Given the description of an element on the screen output the (x, y) to click on. 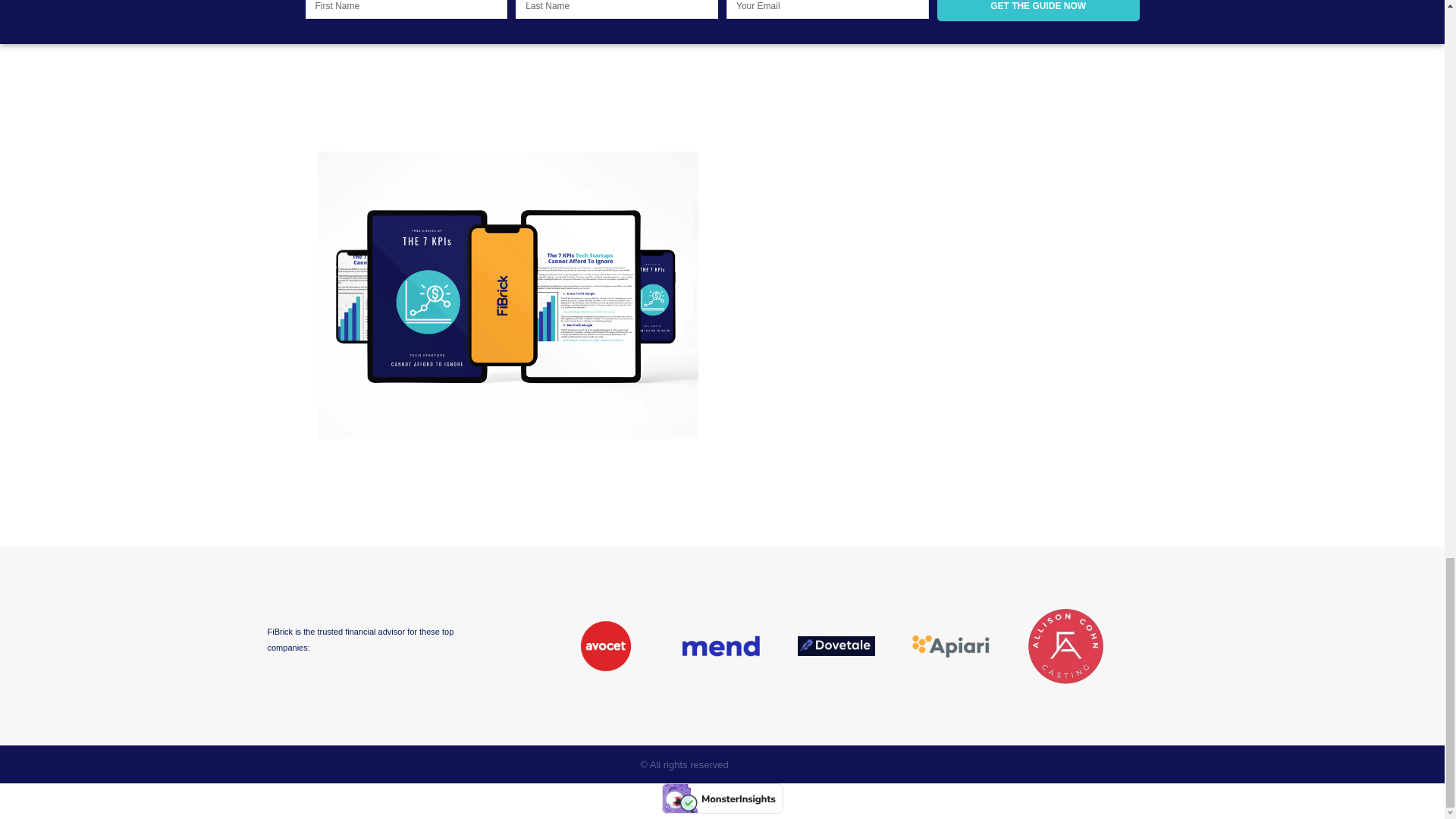
Verified by MonsterInsights (722, 798)
GET THE GUIDE NOW (1038, 10)
